Given the description of an element on the screen output the (x, y) to click on. 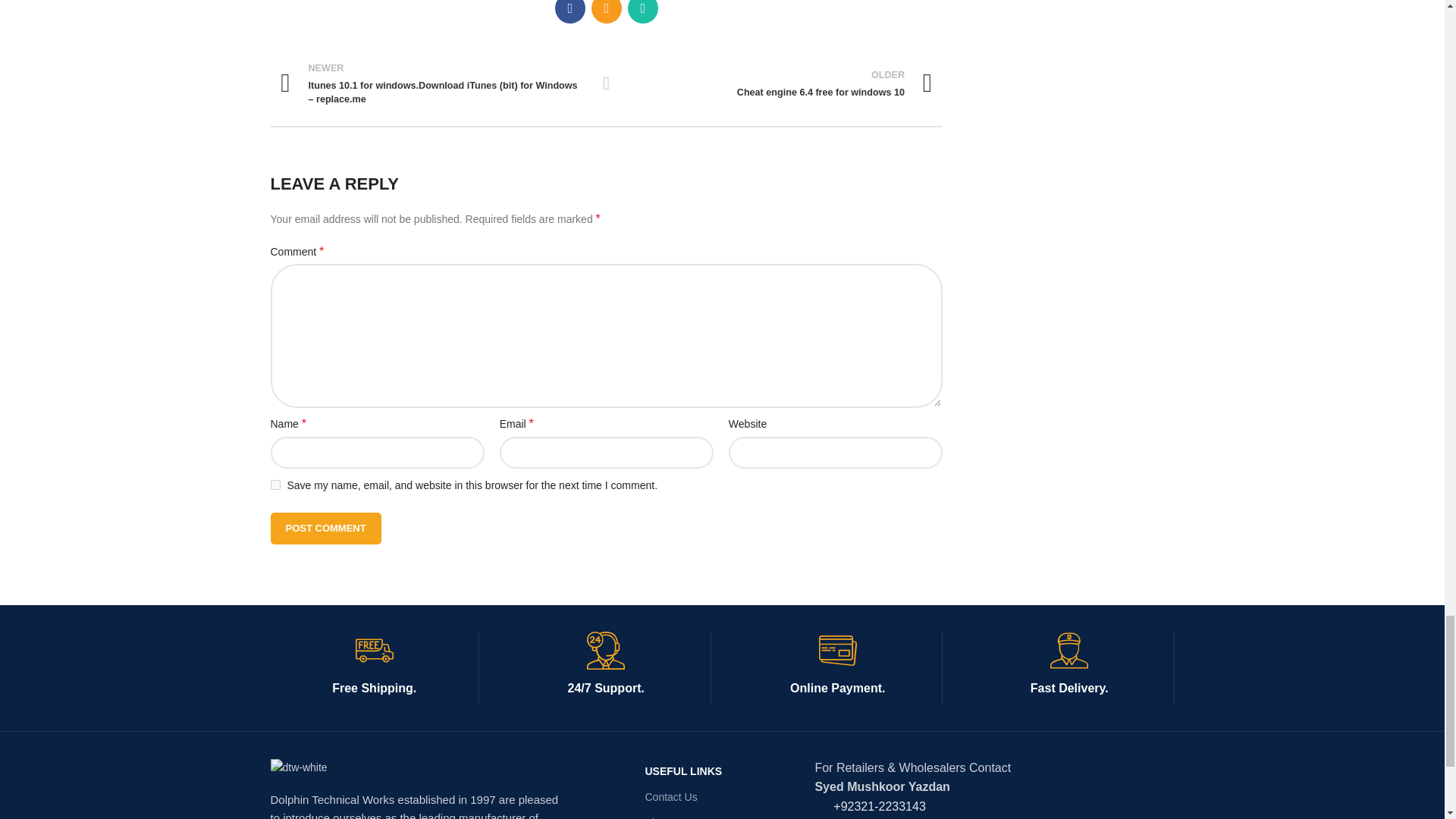
dtw-white (297, 767)
yes (274, 484)
Post Comment (324, 528)
